Given the description of an element on the screen output the (x, y) to click on. 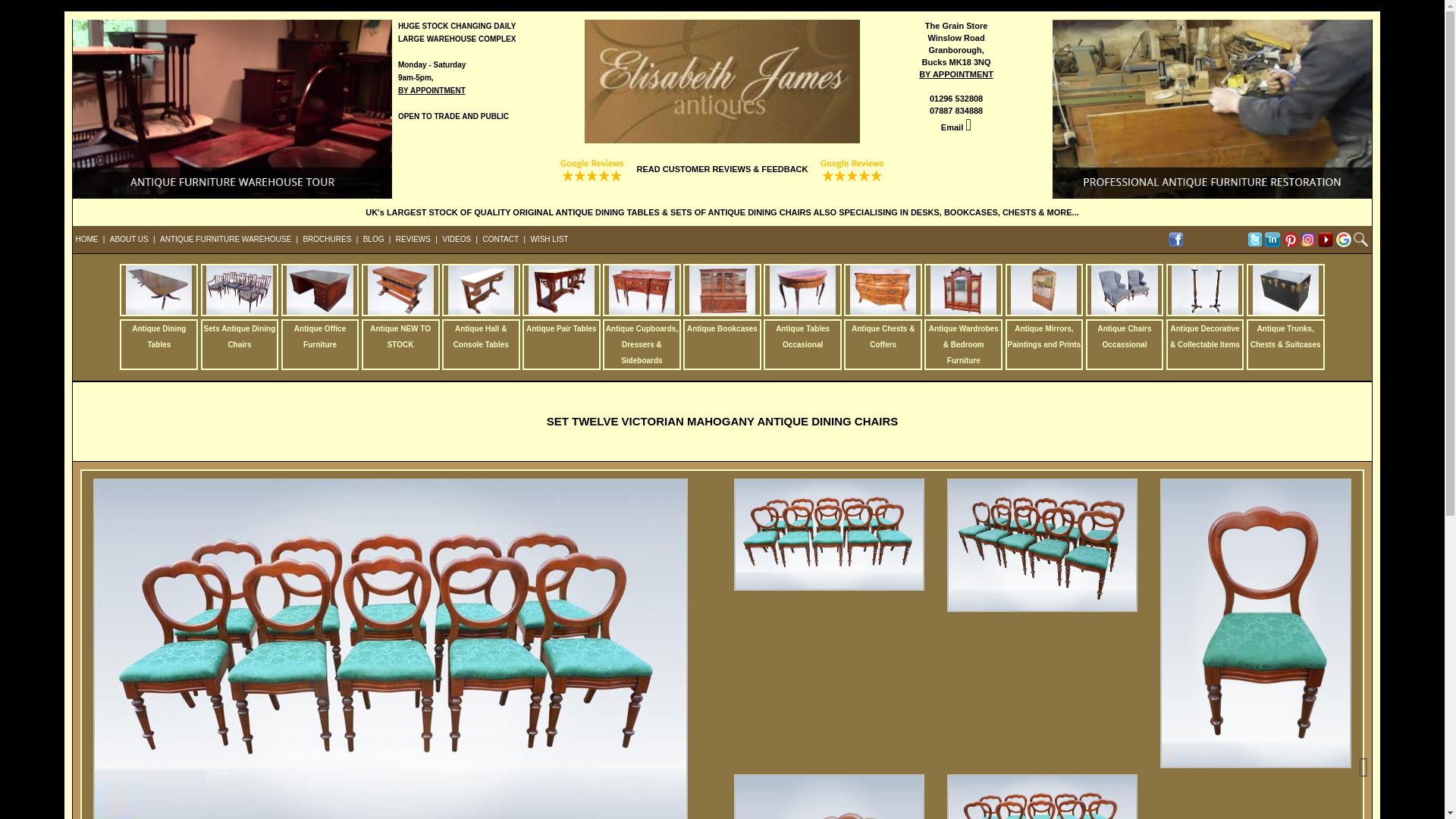
Email (951, 126)
